Given the description of an element on the screen output the (x, y) to click on. 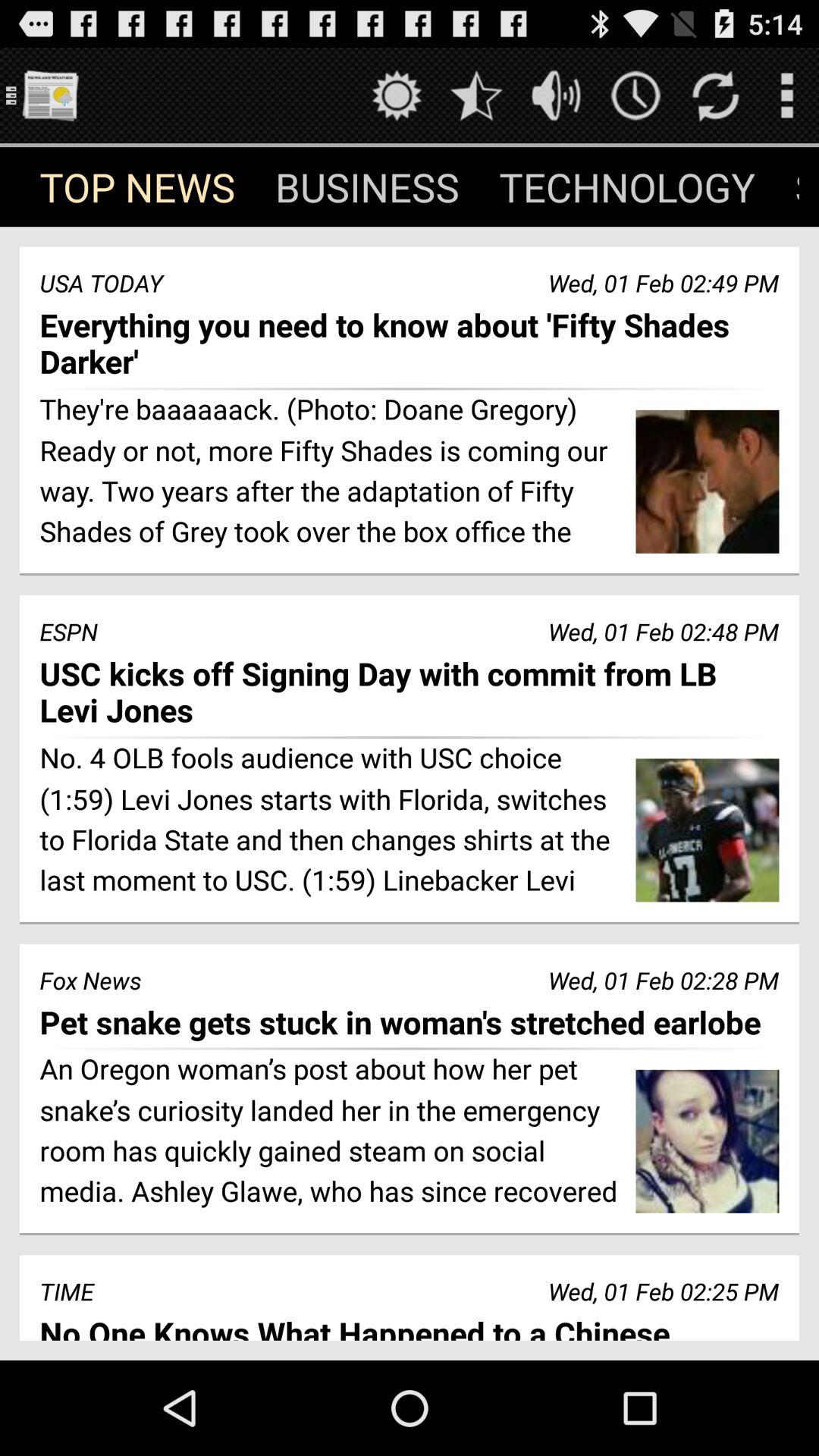
open main menu (49, 95)
